Given the description of an element on the screen output the (x, y) to click on. 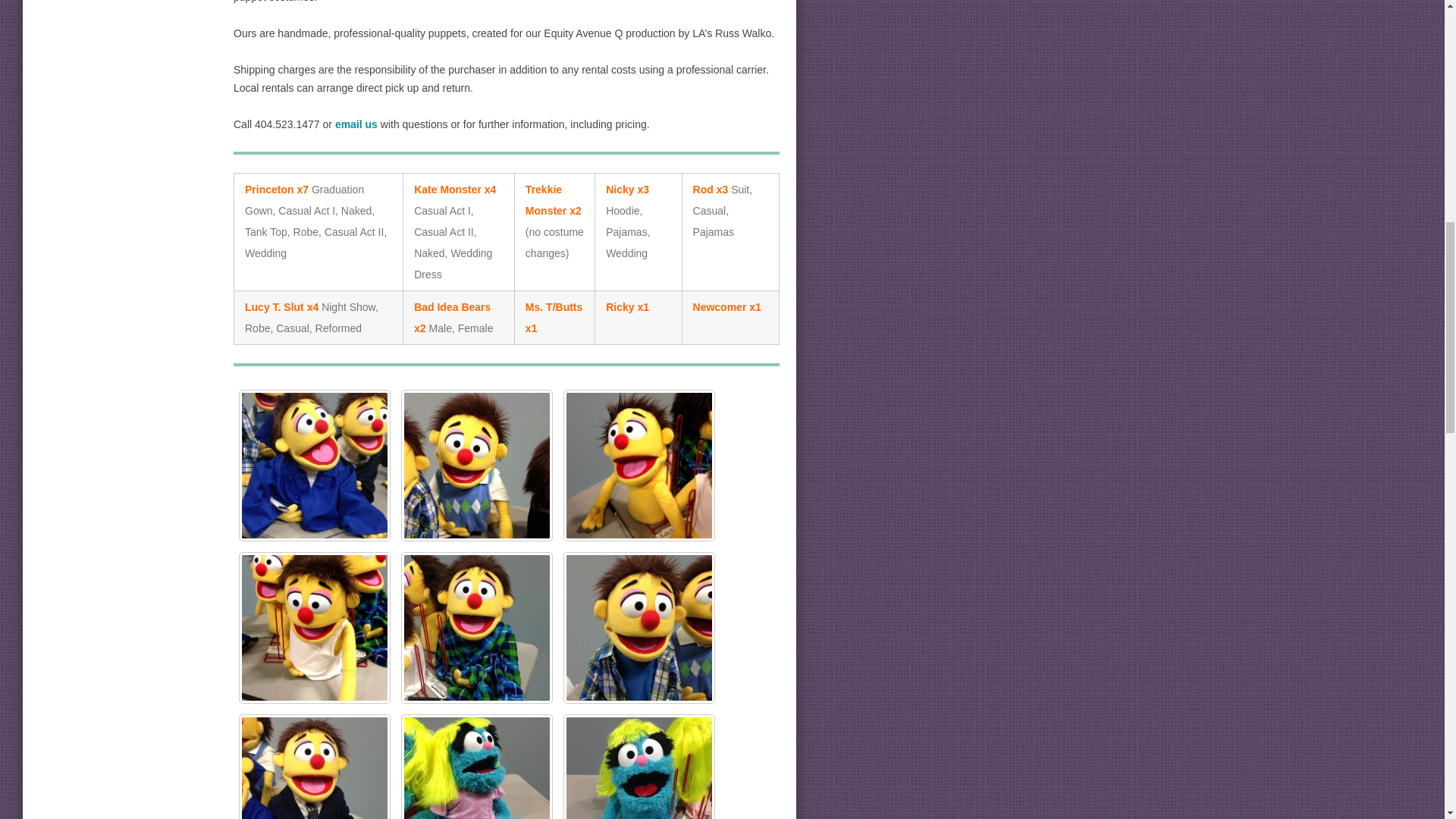
princeton-graduation (314, 465)
princeton-naked (638, 465)
katemonster-casual1 (477, 766)
princeton-suit (314, 766)
princeton-casualact1 (477, 465)
princeton-casualact2 (638, 627)
princeton-robe (477, 627)
princeton-tanktop (314, 627)
katemonster-naked (638, 766)
